Given the description of an element on the screen output the (x, y) to click on. 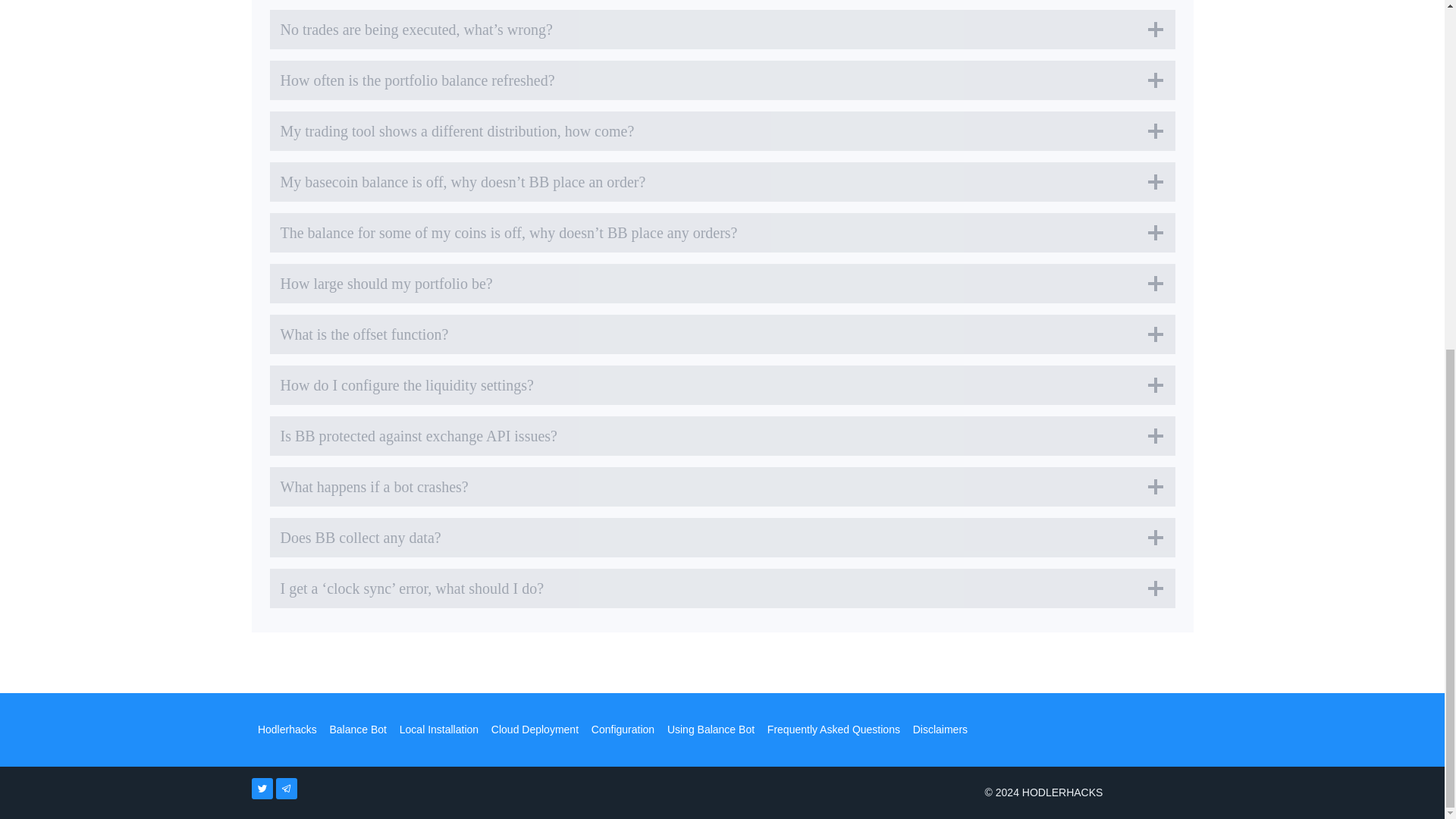
Does BB collect any data? (721, 537)
Cloud Deployment (534, 728)
Configuration (623, 728)
How do I configure the liquidity settings? (721, 384)
Balance Bot (358, 728)
How large should my portfolio be? (721, 283)
Hodlerhacks (287, 728)
Disclaimers (939, 728)
My trading tool shows a different distribution, how come? (721, 130)
Local Installation (438, 728)
What is the offset function? (721, 333)
Frequently Asked Questions (832, 728)
Using Balance Bot (710, 728)
How often is the portfolio balance refreshed? (721, 79)
What happens if a bot crashes? (721, 486)
